Given the description of an element on the screen output the (x, y) to click on. 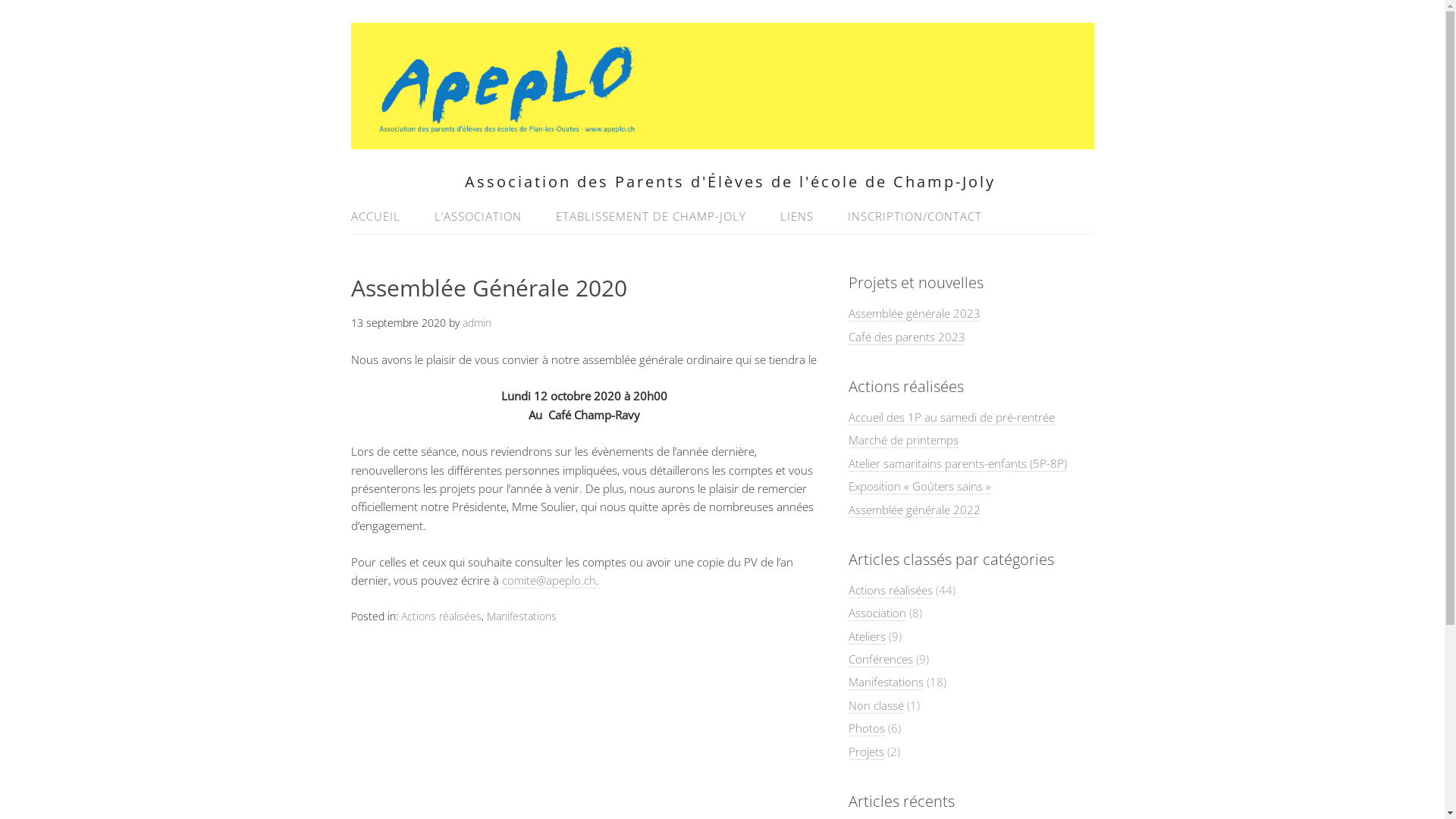
Photos Element type: text (866, 728)
Atelier samaritains parents-enfants (5P-8P) Element type: text (957, 463)
Manifestations Element type: text (521, 615)
Projets Element type: text (866, 751)
ETABLISSEMENT DE CHAMP-JOLY Element type: text (649, 216)
LIENS Element type: text (796, 216)
ACCUEIL Element type: text (382, 216)
comite@apeplo.ch Element type: text (549, 580)
Association Element type: text (877, 613)
INSCRIPTION/CONTACT Element type: text (907, 216)
Ateliers Element type: text (866, 636)
Apeplo Element type: hover (721, 140)
admin Element type: text (476, 322)
Manifestations Element type: text (885, 682)
